Given the description of an element on the screen output the (x, y) to click on. 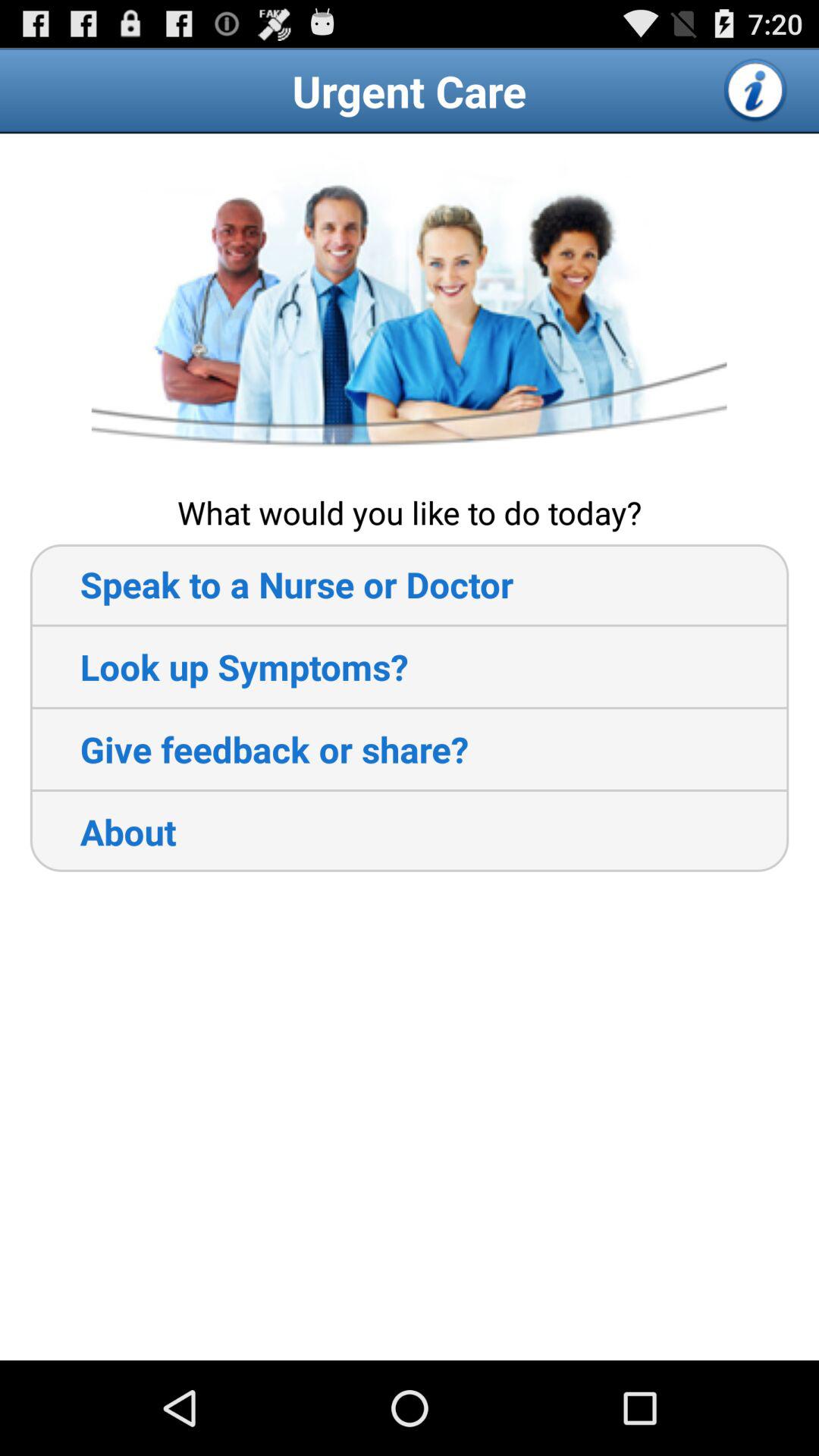
open more information (756, 90)
